Given the description of an element on the screen output the (x, y) to click on. 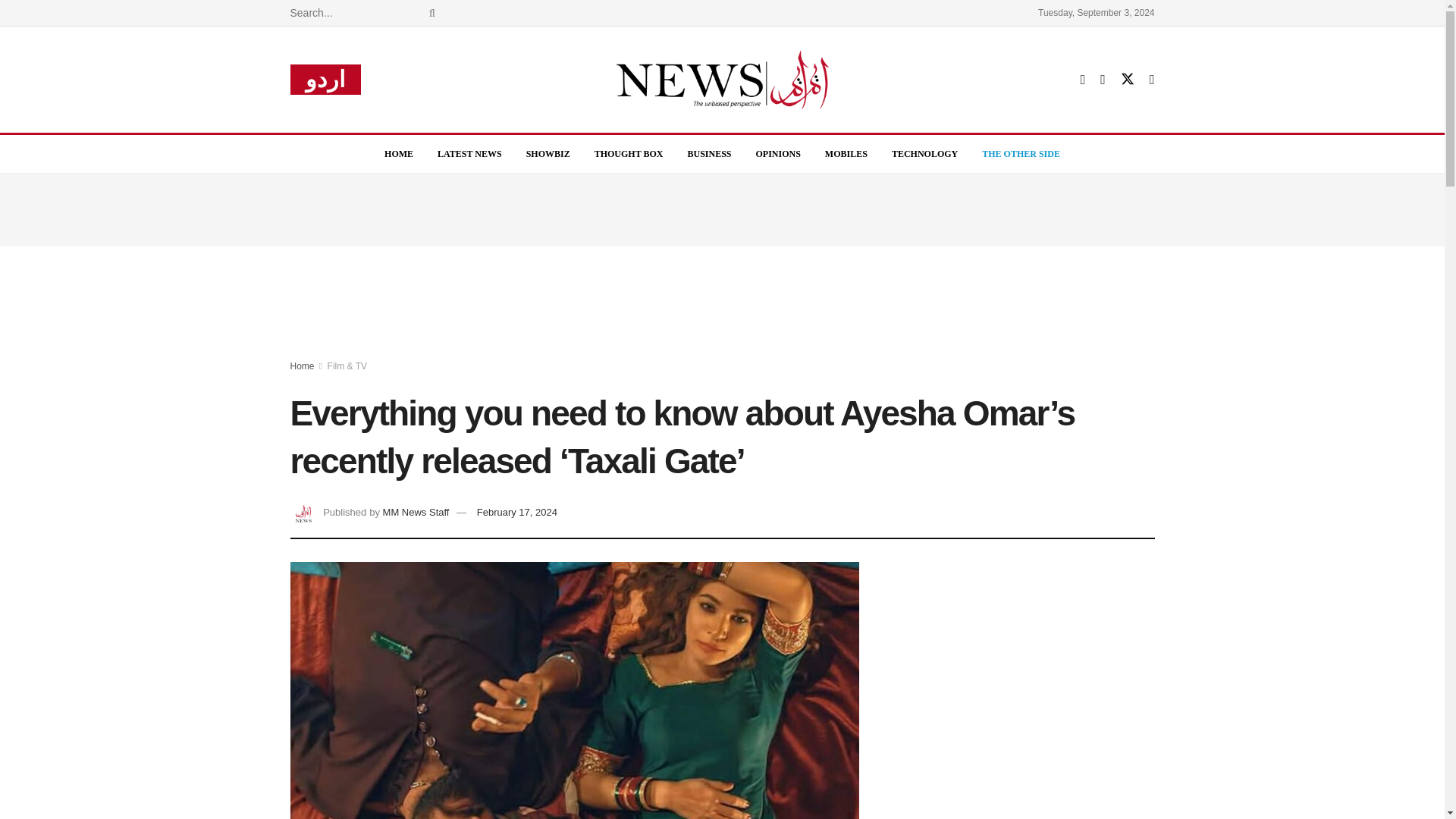
THE OTHER SIDE (1020, 153)
MOBILES (845, 153)
BUSINESS (708, 153)
THOUGHT BOX (628, 153)
TECHNOLOGY (924, 153)
HOME (398, 153)
LATEST NEWS (469, 153)
SHOWBIZ (547, 153)
OPINIONS (778, 153)
